Given the description of an element on the screen output the (x, y) to click on. 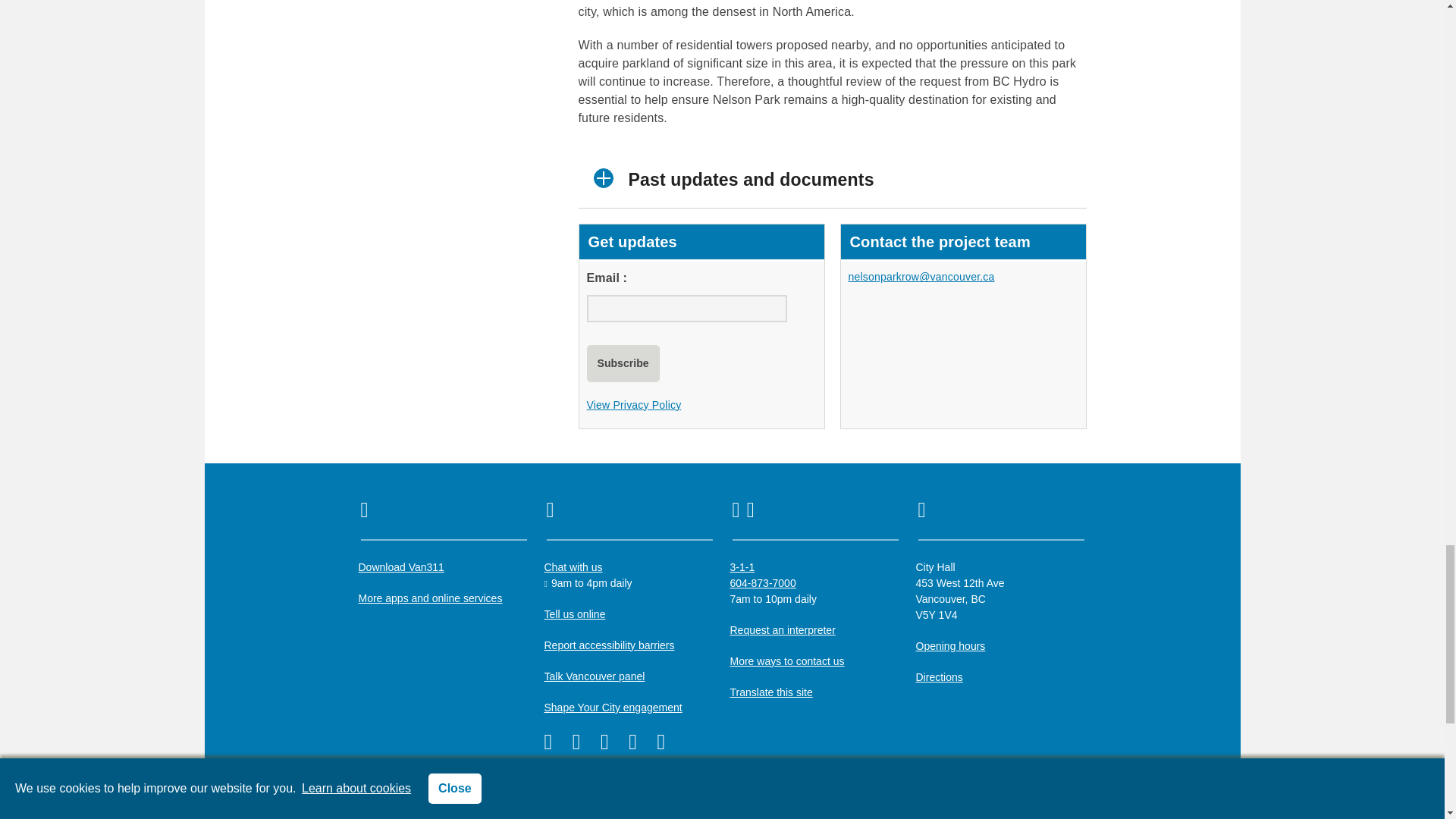
Subscribe (622, 363)
View privacy policy (633, 404)
